Given the description of an element on the screen output the (x, y) to click on. 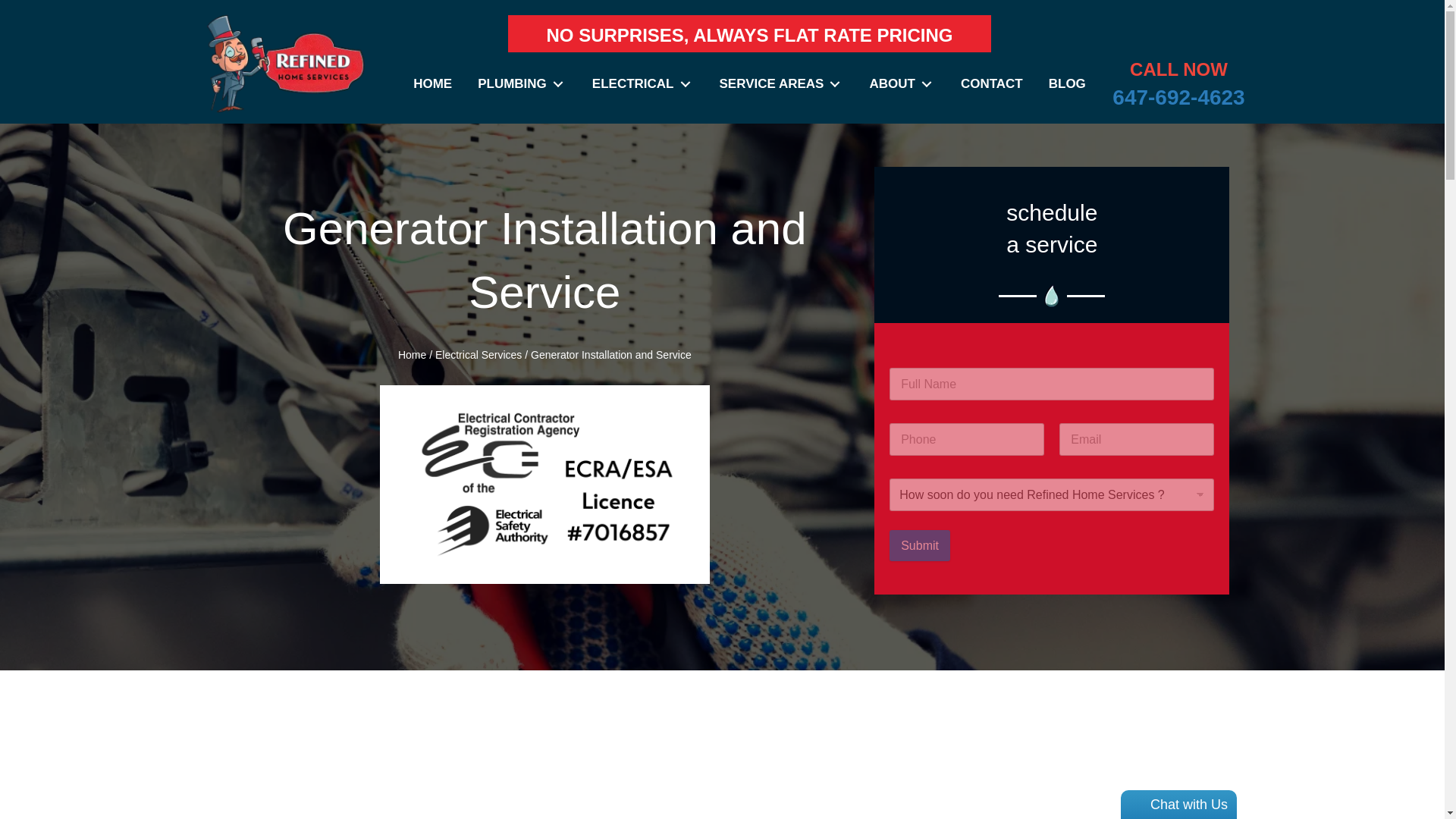
ELECTRICAL (643, 84)
HOME (432, 84)
sep (1051, 295)
SERVICE AREAS (780, 84)
PLUMBING (521, 84)
